Given the description of an element on the screen output the (x, y) to click on. 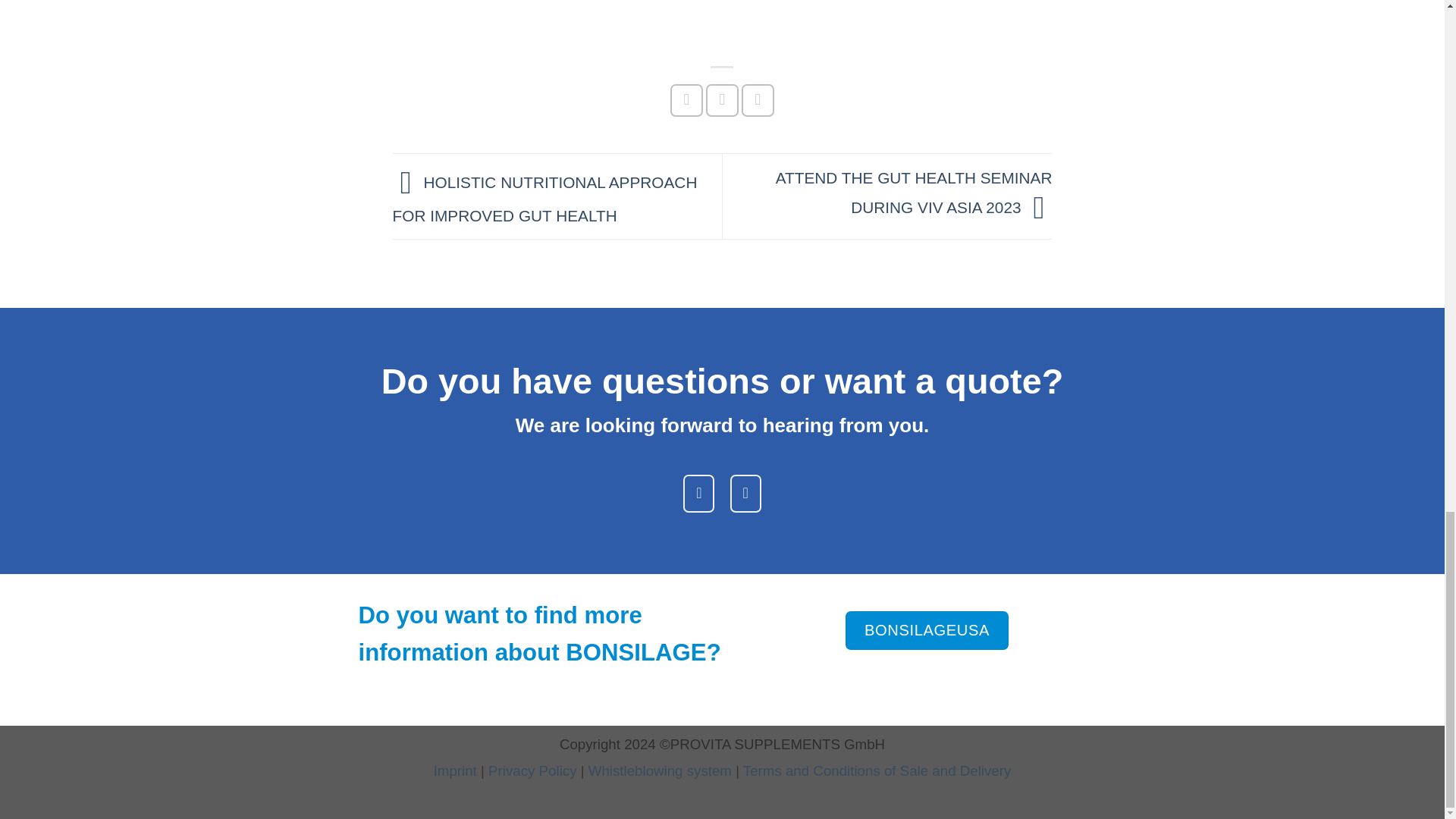
Share on Twitter (722, 100)
Email to a Friend (757, 100)
Share on Facebook (686, 100)
